Given the description of an element on the screen output the (x, y) to click on. 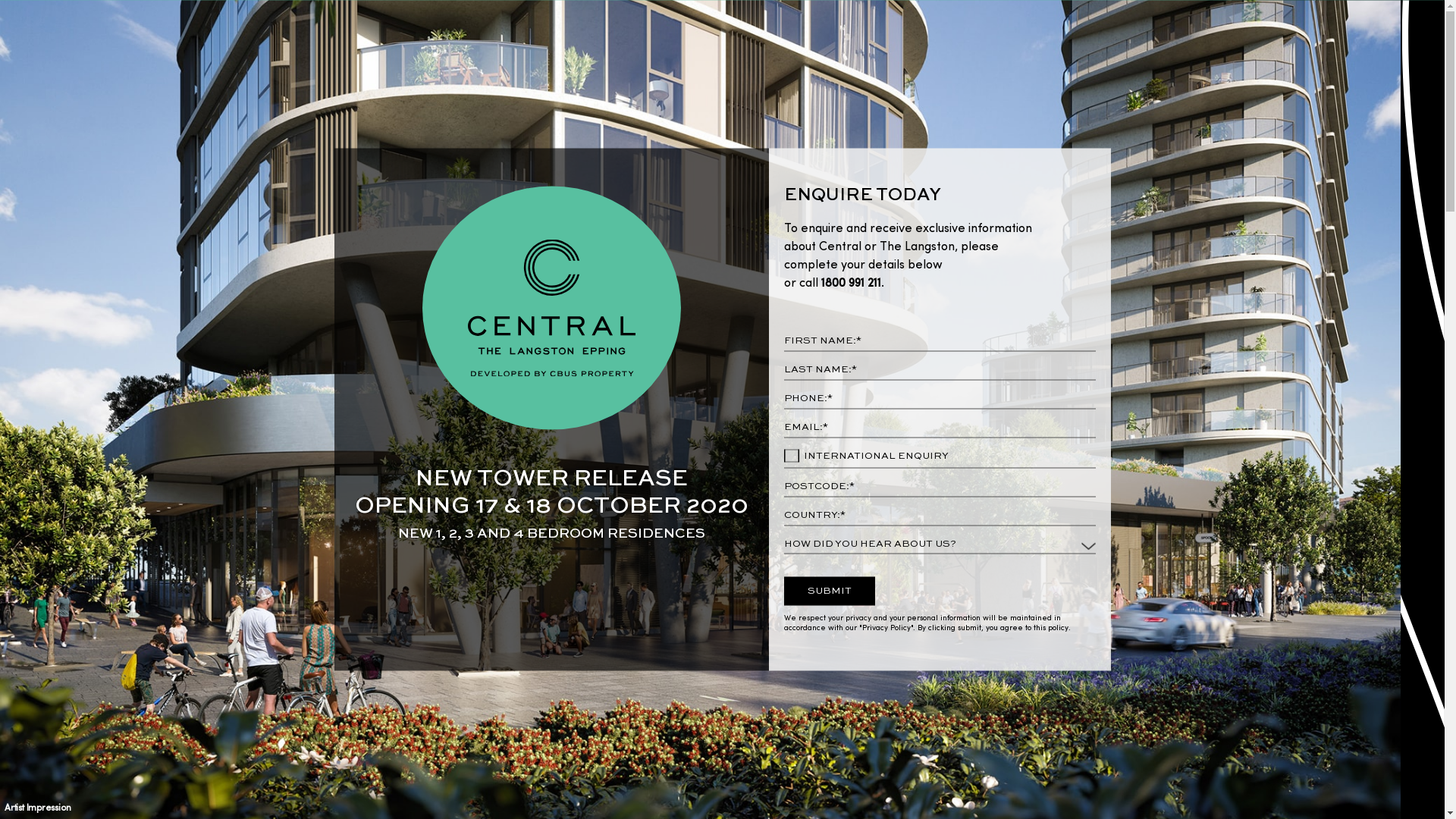
1800 991 211 Element type: text (849, 283)
"Privacy Policy" Element type: text (886, 626)
SUBMIT Element type: text (829, 590)
